Given the description of an element on the screen output the (x, y) to click on. 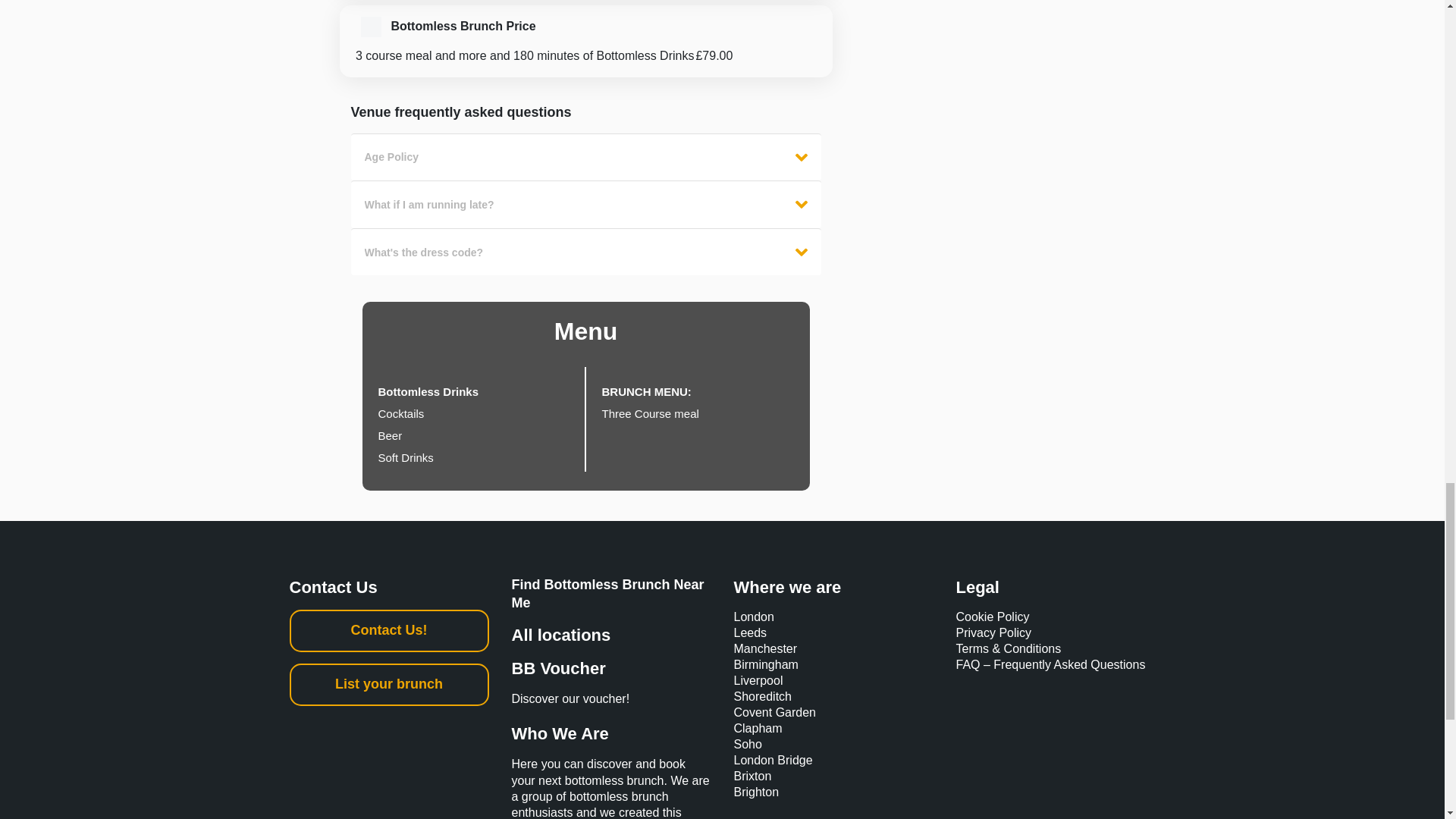
Brighton (755, 791)
Discover our voucher! (610, 705)
Leeds (750, 632)
Liverpool (758, 680)
London (753, 616)
Cookie Policy (992, 616)
Find Bottomless Brunch Near Me (607, 593)
Birmingham (765, 664)
London Bridge (772, 759)
Shoreditch (762, 696)
